Given the description of an element on the screen output the (x, y) to click on. 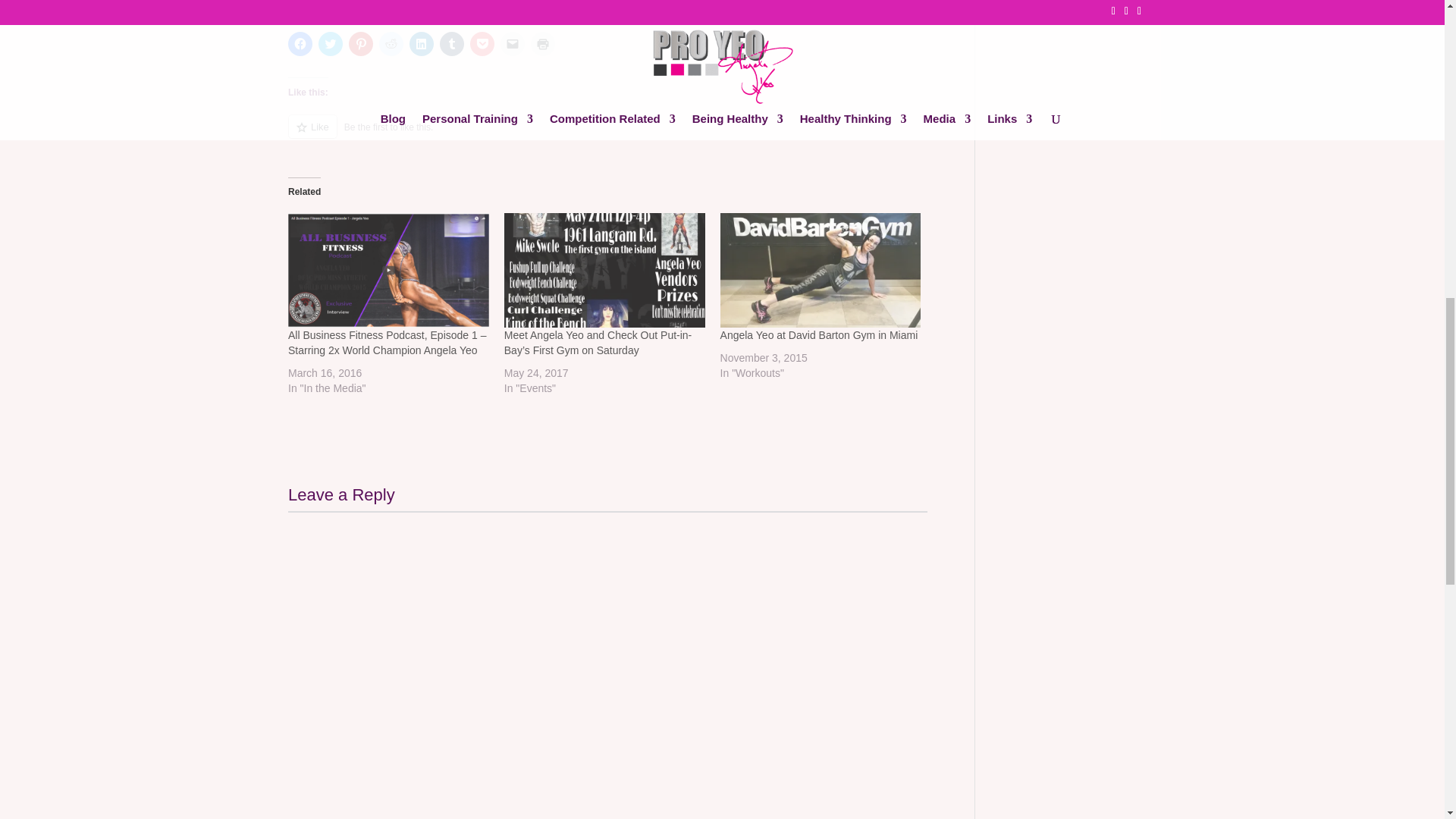
Click to share on Reddit (390, 43)
Click to share on Pocket (482, 43)
Click to email a link to a friend (512, 43)
Click to print (542, 43)
Like or Reblog (607, 135)
Click to share on Facebook (300, 43)
Click to share on Tumblr (451, 43)
Click to share on Pinterest (360, 43)
Click to share on Twitter (330, 43)
Click to share on LinkedIn (421, 43)
